Given the description of an element on the screen output the (x, y) to click on. 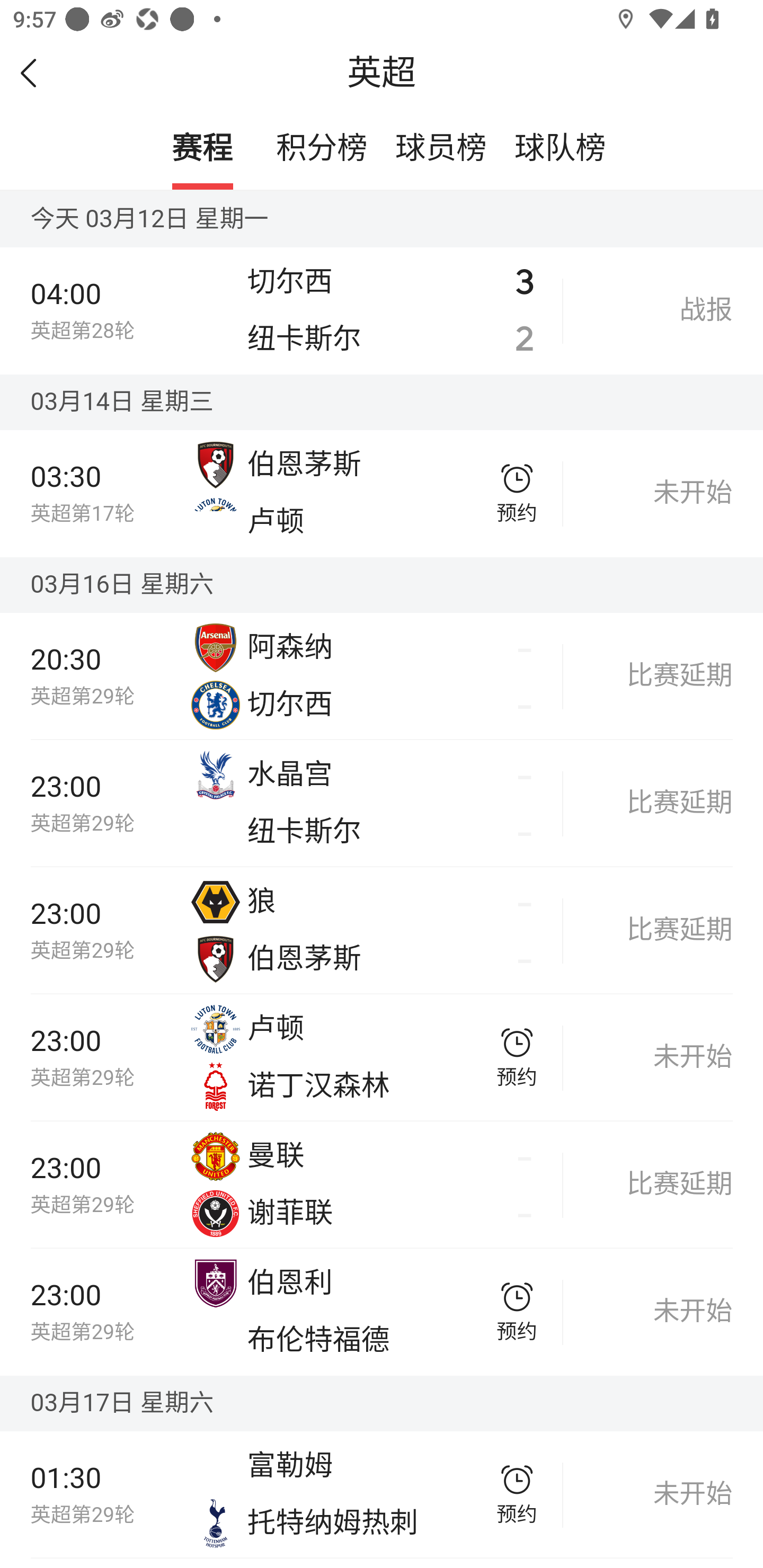
英超 (381, 72)
赛程 (202, 149)
积分榜 (321, 149)
球员榜 (440, 149)
球队榜 (559, 149)
mdpi/预约 预约 (517, 492)
mdpi/预约 预约 (517, 1057)
mdpi/预约 预约 (517, 1311)
mdpi/预约 预约 (517, 1494)
